Given the description of an element on the screen output the (x, y) to click on. 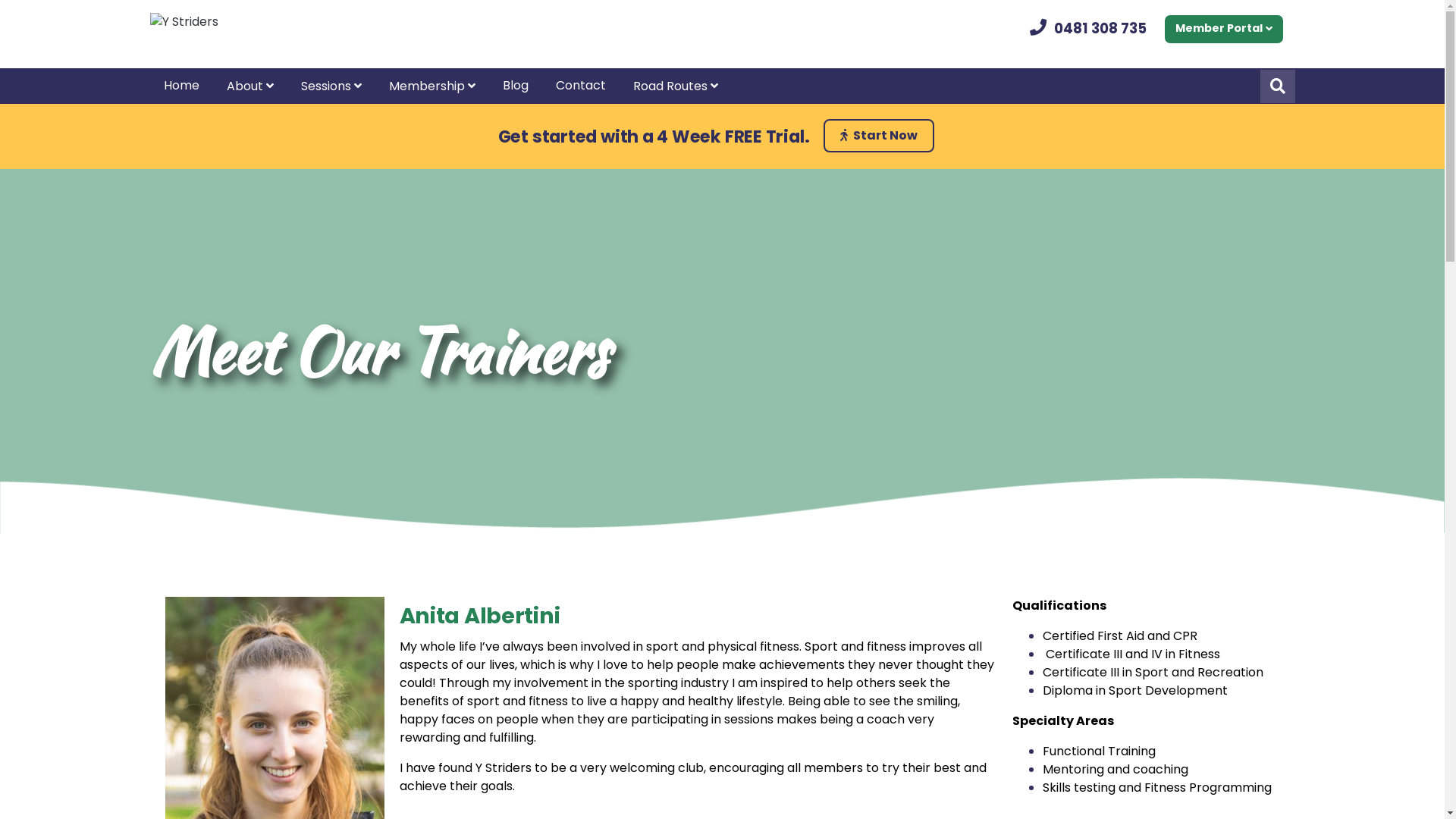
Membership Element type: text (431, 85)
Blog Element type: text (515, 85)
Member Portal Element type: text (1223, 28)
Start Now Element type: text (878, 135)
Road Routes Element type: text (675, 85)
Contact Element type: text (580, 85)
Sessions Element type: text (330, 85)
0481 308 735 Element type: text (1100, 27)
About Element type: text (249, 85)
Home Element type: text (181, 85)
Search Element type: text (1277, 86)
